Given the description of an element on the screen output the (x, y) to click on. 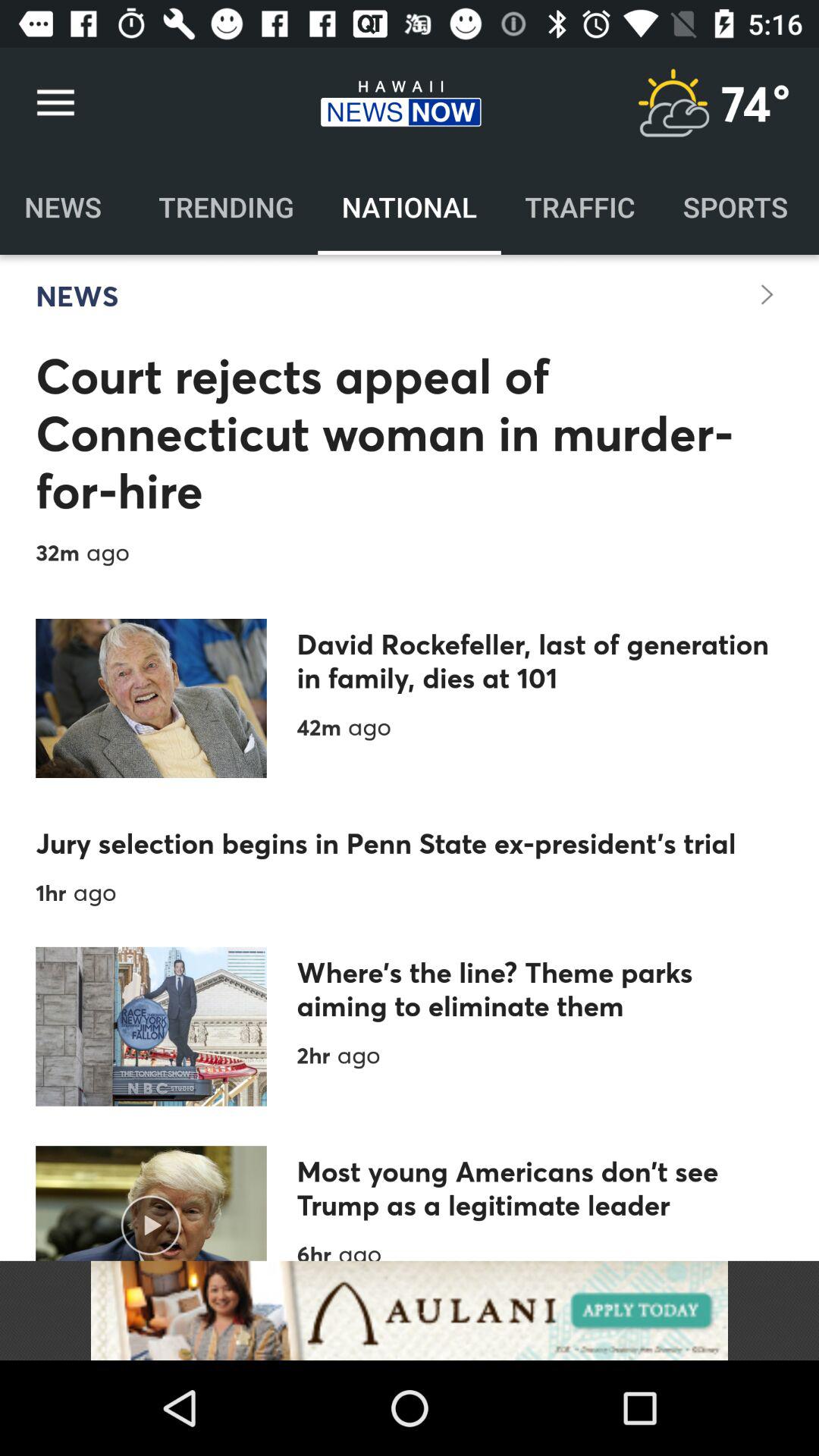
see weather details (673, 103)
